Given the description of an element on the screen output the (x, y) to click on. 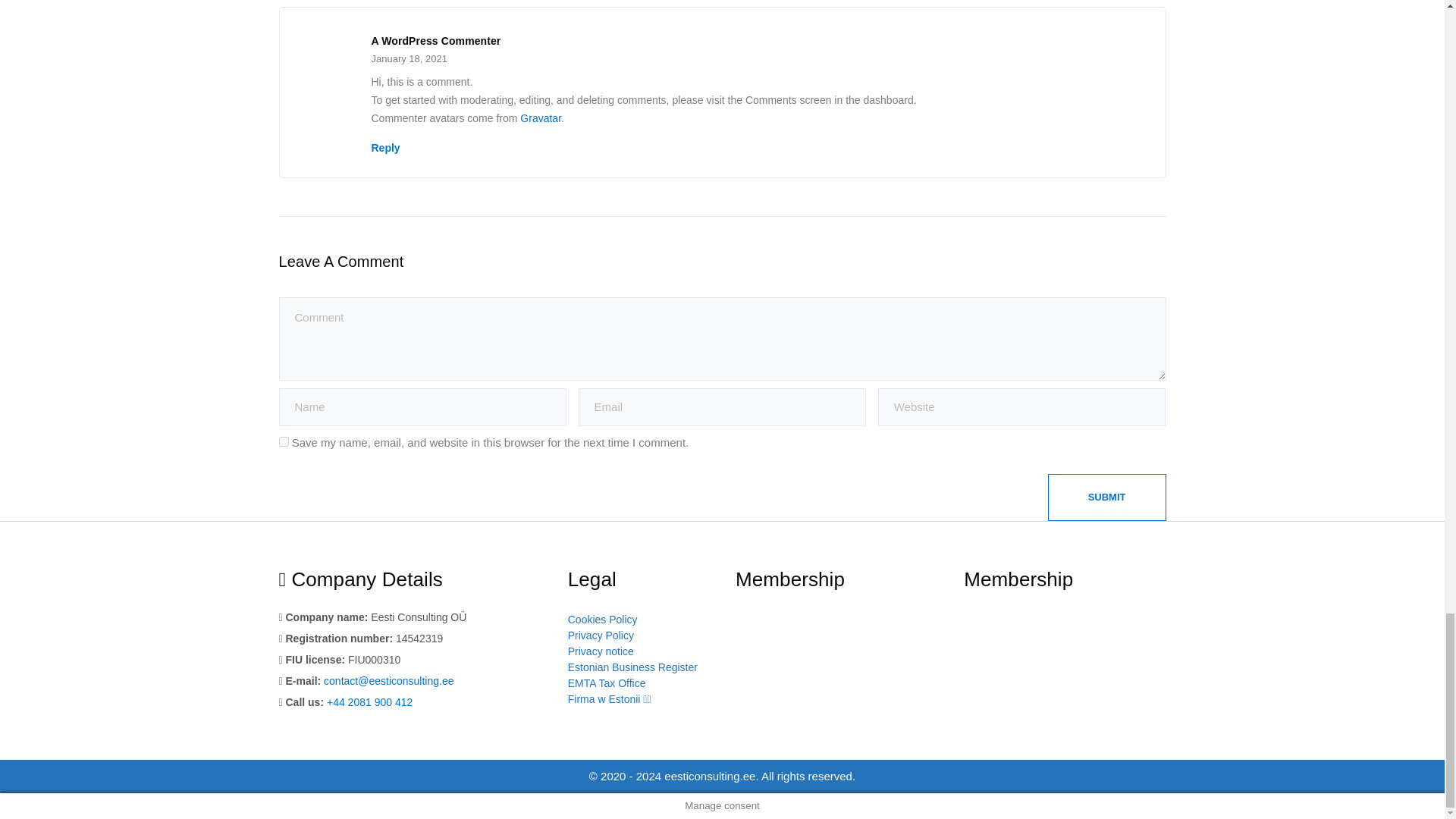
Submit (1107, 497)
yes (283, 441)
